Given the description of an element on the screen output the (x, y) to click on. 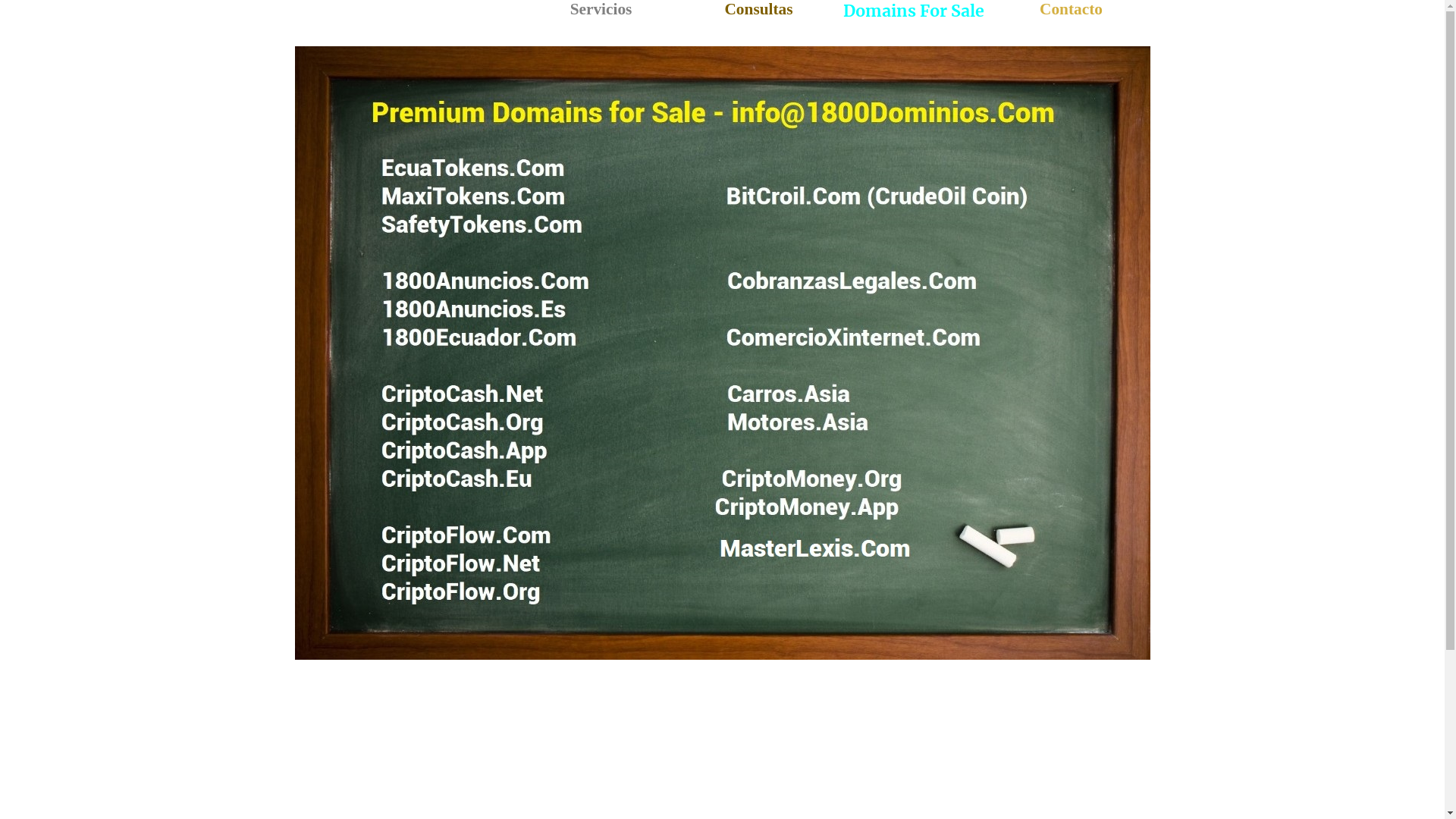
Servicios Element type: text (601, 9)
Domains For Sale Element type: text (913, 10)
Contacto Element type: text (1070, 9)
Consultas Element type: text (758, 9)
